Given the description of an element on the screen output the (x, y) to click on. 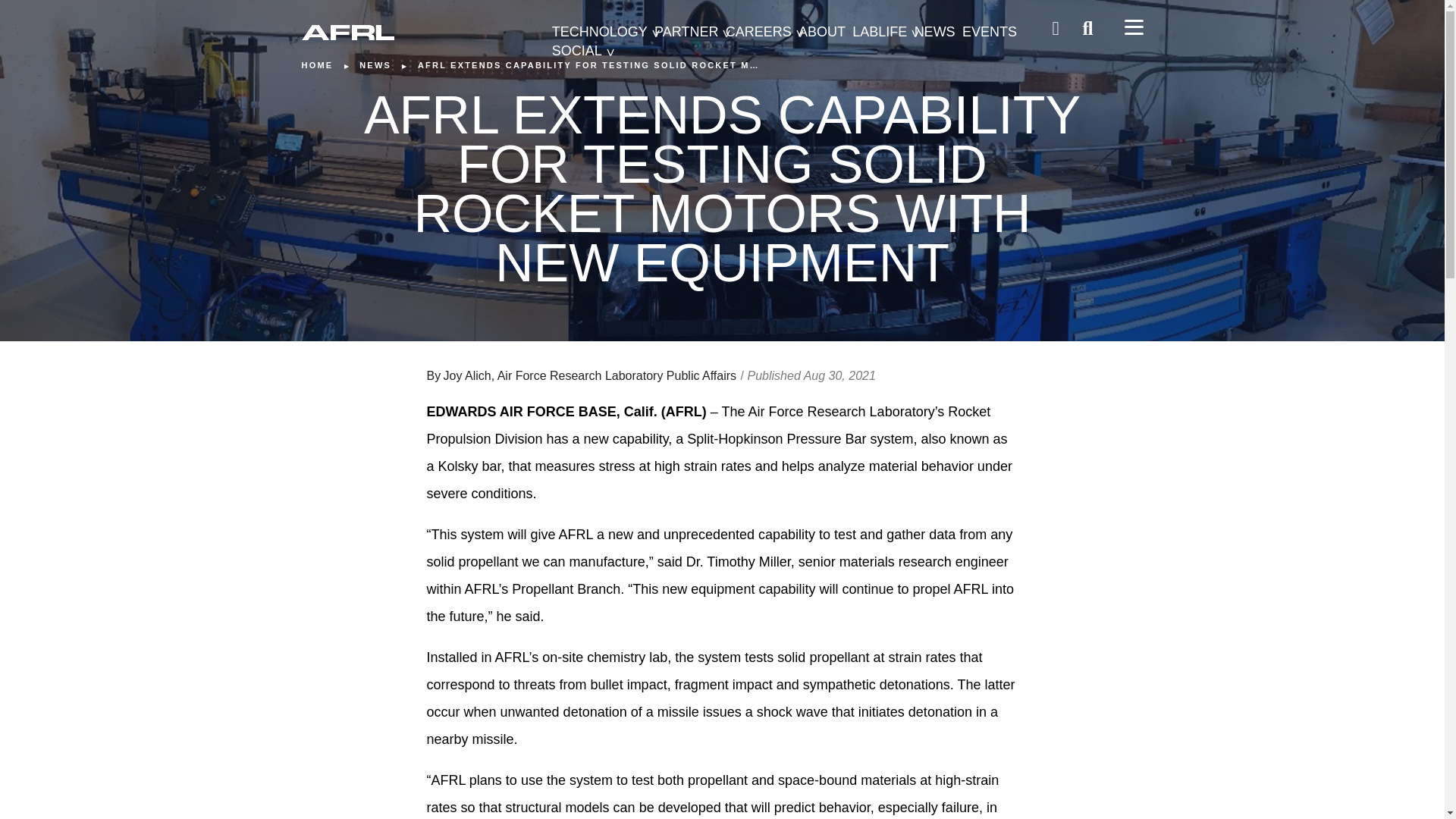
PARTNER (685, 31)
TECHNOLOGY (599, 31)
LABLIFE (879, 31)
ABOUT (821, 31)
Air Force Research Laboratory Navigation (1133, 26)
CAREERS (758, 31)
